Given the description of an element on the screen output the (x, y) to click on. 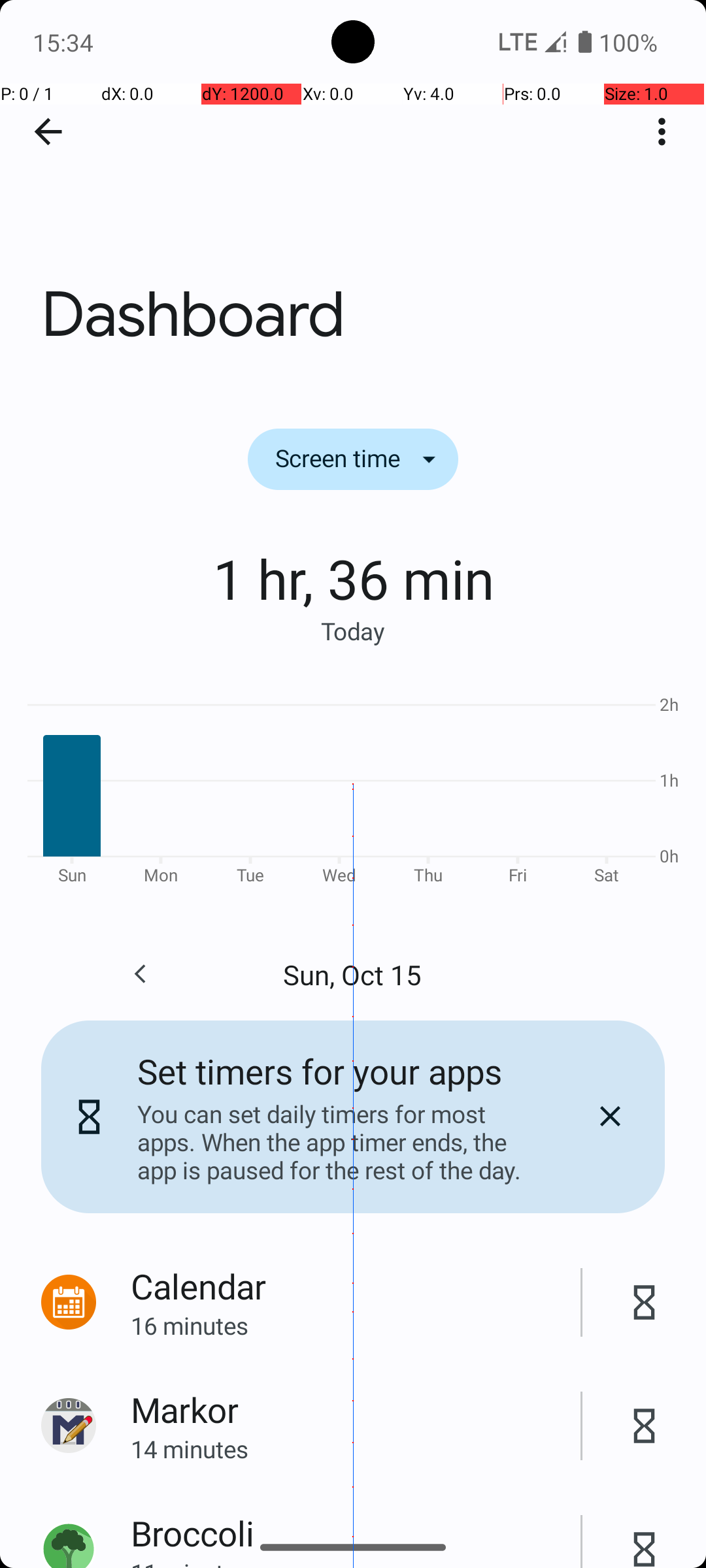
Dashboard Element type: android.widget.FrameLayout (353, 195)
1 hr, 36 min Element type: android.widget.TextView (353, 577)
Set timers for your apps Element type: android.widget.TextView (319, 1070)
You can set daily timers for most apps. When the app timer ends, the app is paused for the rest of the day. Element type: android.widget.TextView (339, 1141)
Dismiss card Element type: android.widget.Button (609, 1116)
16 minutes Element type: android.widget.TextView (355, 1325)
No timer set for Calendar Element type: android.widget.FrameLayout (644, 1302)
14 minutes Element type: android.widget.TextView (355, 1448)
No timer set for Markor Element type: android.widget.FrameLayout (644, 1425)
11 minutes Element type: android.widget.TextView (355, 1562)
No timer set for Broccoli Element type: android.widget.FrameLayout (644, 1534)
Bar Chart. Showing Phone usage data with 7 data points. Element type: android.view.ViewGroup (353, 787)
